Given the description of an element on the screen output the (x, y) to click on. 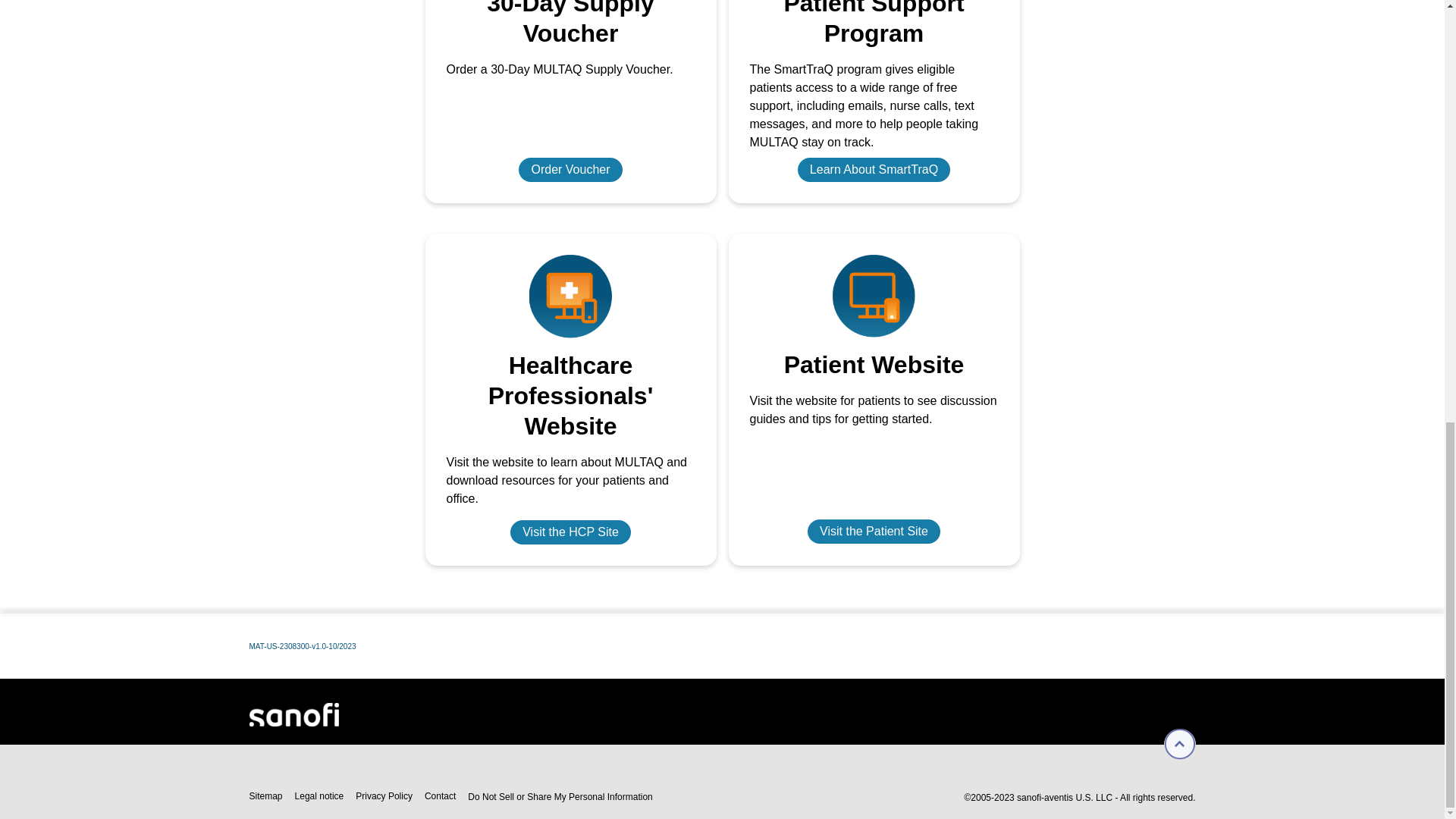
Order Voucher (569, 169)
Legal notice (319, 796)
Visit the HCP Site (570, 532)
Contact (440, 796)
Privacy Policy (383, 796)
Sitemap (265, 796)
Visit the Patient Site (874, 531)
Do Not Sell or Share My Personal Information (559, 796)
